Given the description of an element on the screen output the (x, y) to click on. 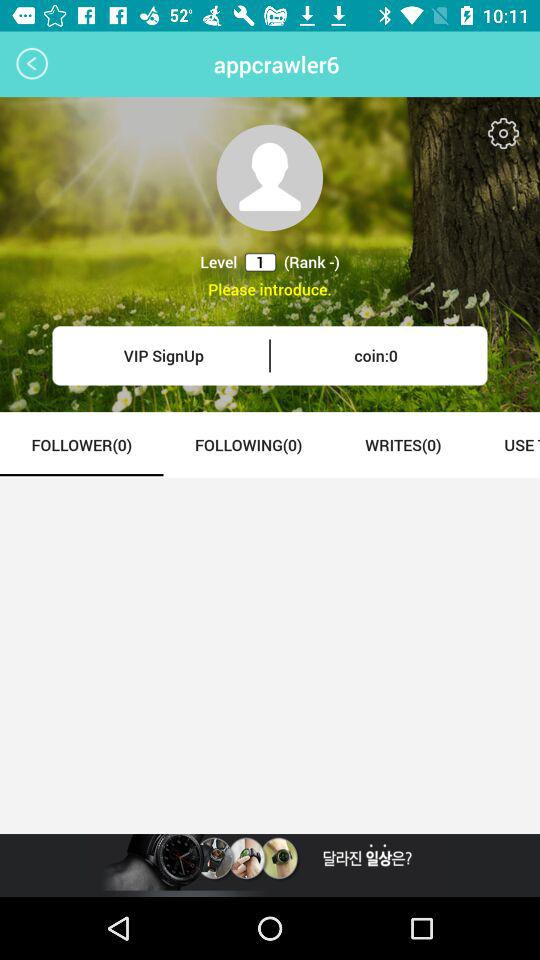
account holder (269, 177)
